Given the description of an element on the screen output the (x, y) to click on. 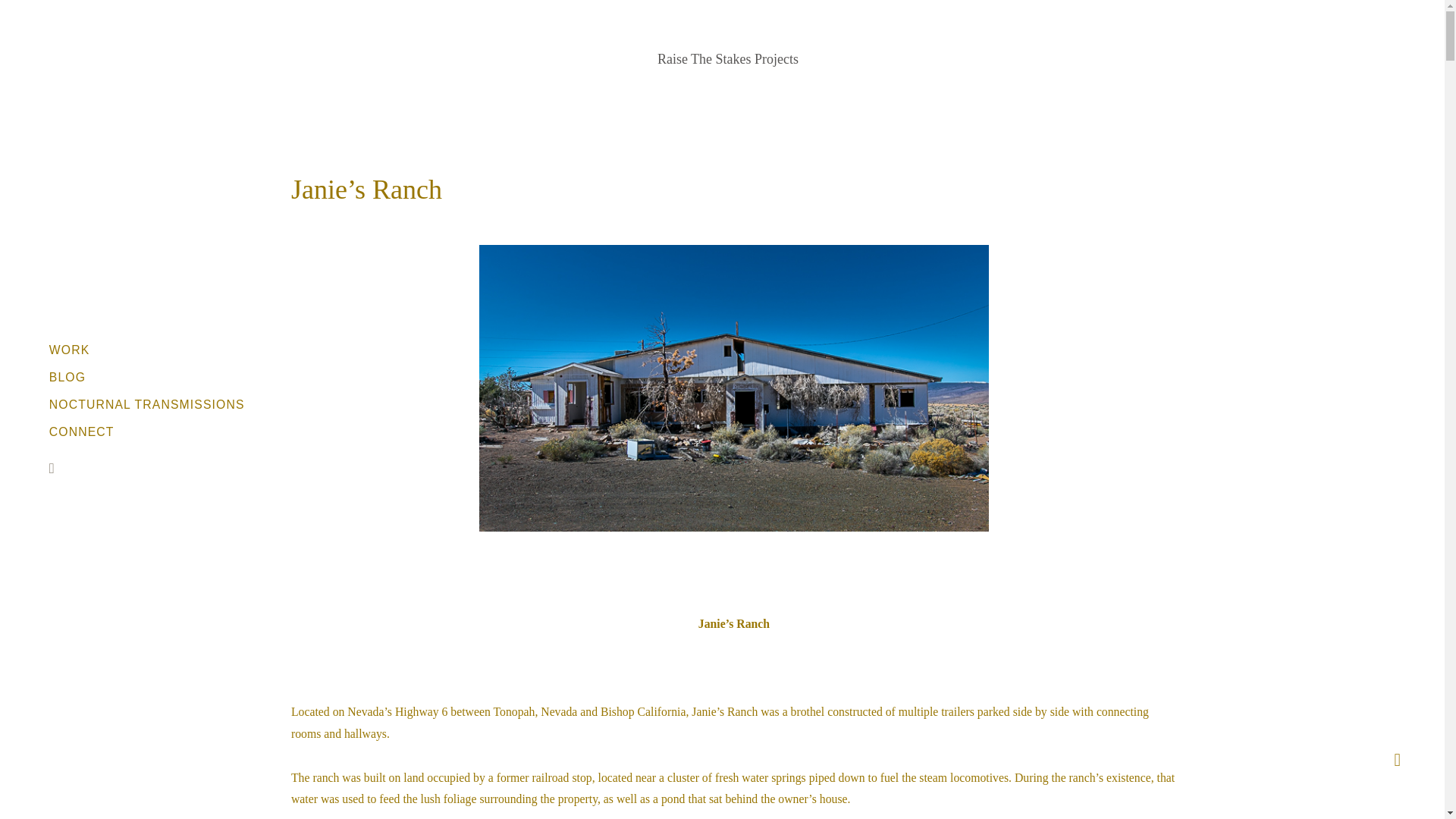
Raise The Stakes Projects (727, 59)
NOCTURNAL TRANSMISSIONS (146, 403)
WORK (146, 349)
CONNECT (146, 431)
BLOG (146, 376)
